Given the description of an element on the screen output the (x, y) to click on. 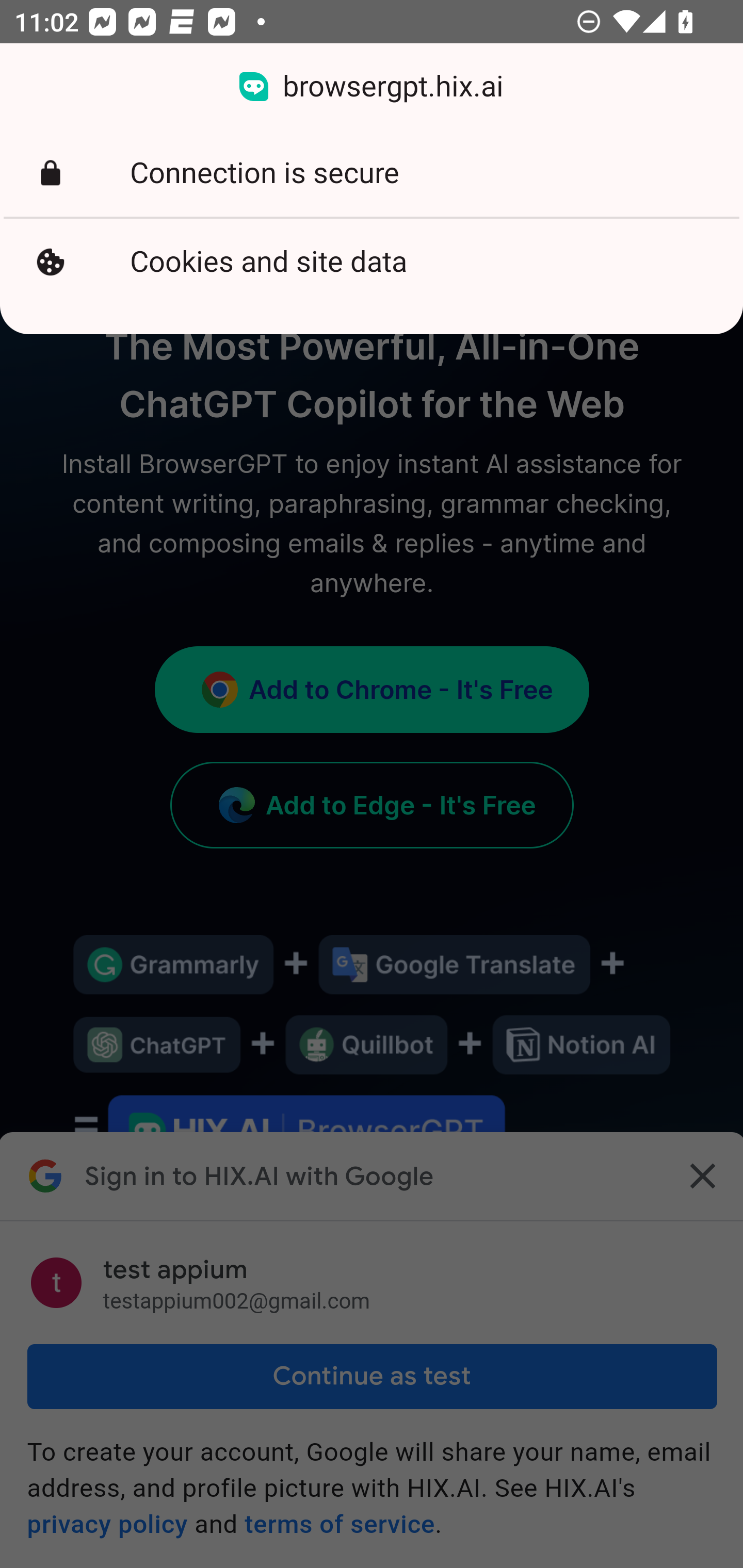
browsergpt.hix.ai (371, 86)
Connection is secure (371, 173)
Cookies and site data (371, 261)
